Given the description of an element on the screen output the (x, y) to click on. 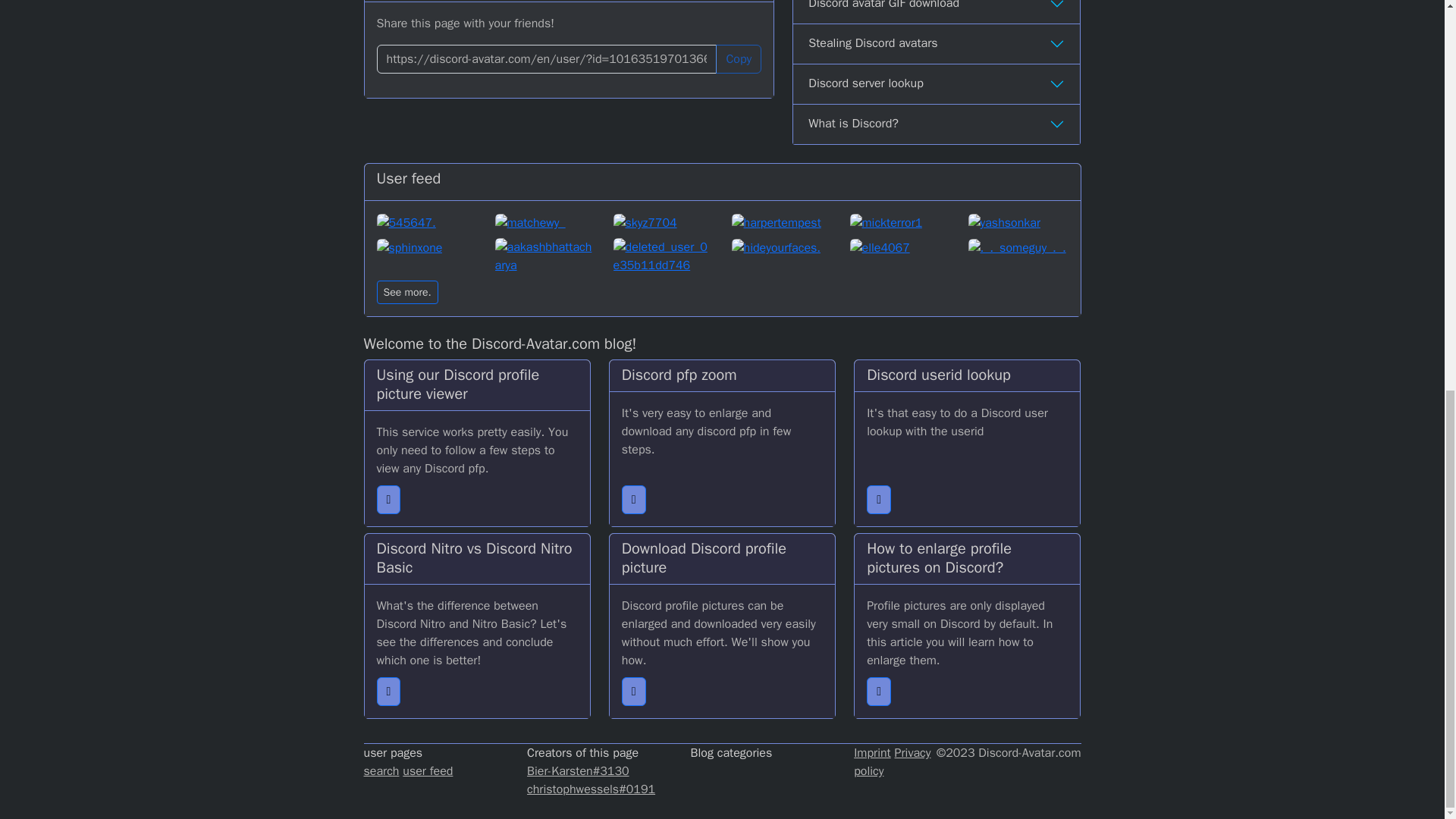
545647. (425, 221)
This is the link to the current site. (545, 59)
aakashbhattacharya (544, 256)
See more. (406, 291)
skyz7704 (663, 221)
sphinxone (425, 256)
